Given the description of an element on the screen output the (x, y) to click on. 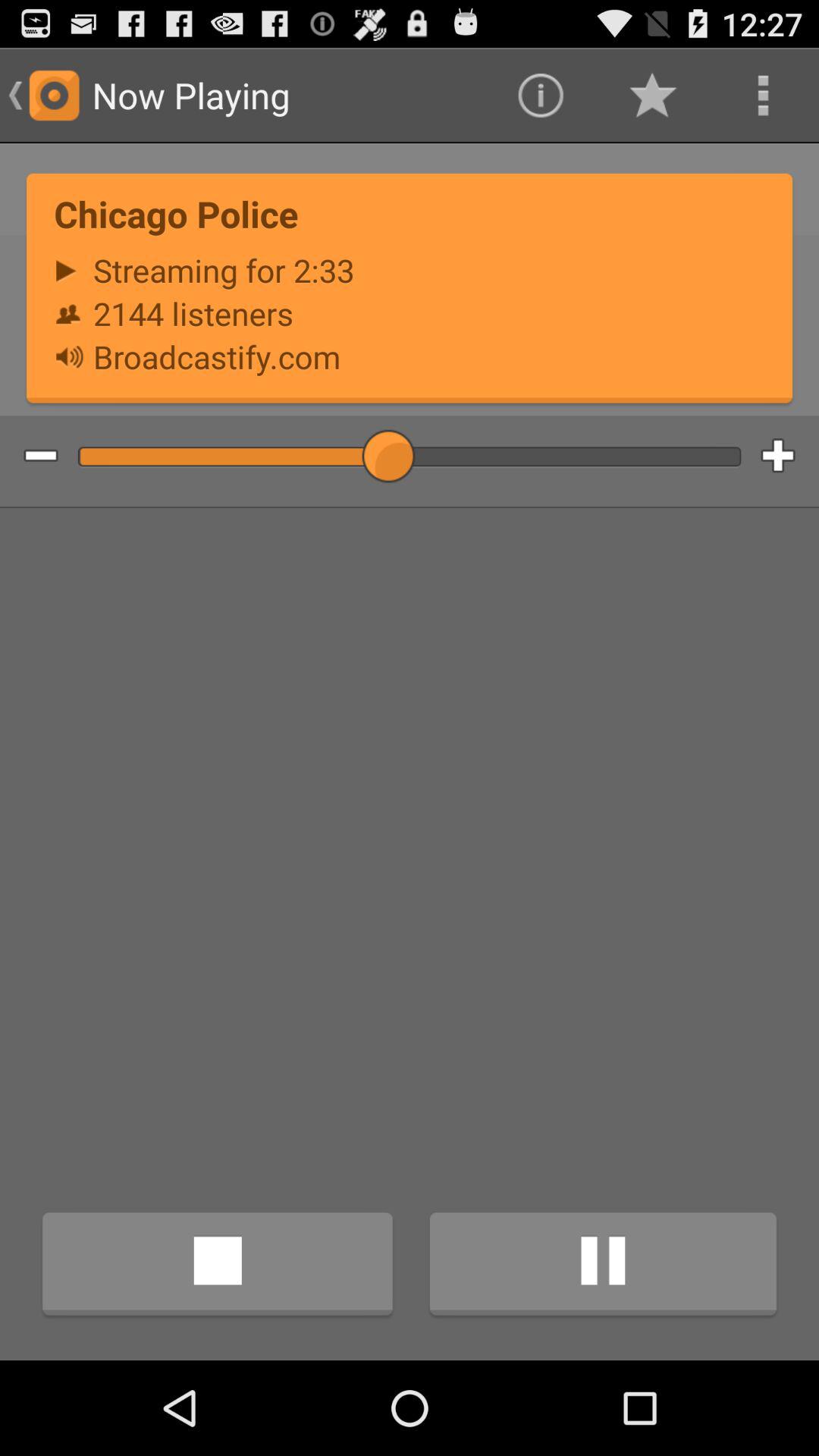
click icon to the right of the now playing item (540, 95)
